Given the description of an element on the screen output the (x, y) to click on. 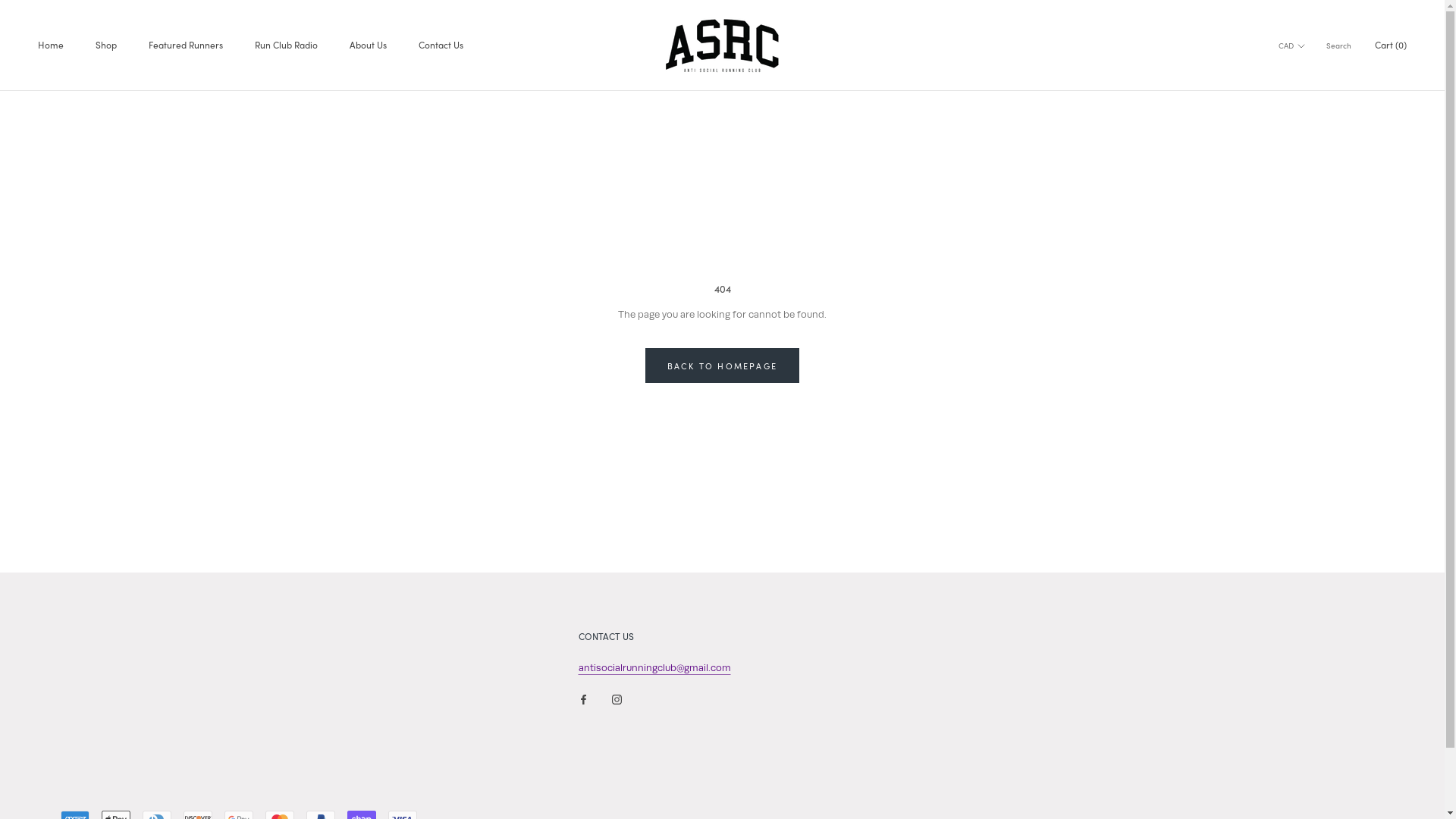
Search Element type: text (1338, 45)
About Us
About Us Element type: text (367, 44)
Contact Us
Contact Us Element type: text (440, 44)
antisocialrunningclub@gmail.com Element type: text (653, 667)
Featured Runners
Featured Runners Element type: text (185, 44)
Run Club Radio
Run Club Radio Element type: text (285, 44)
Home
Home Element type: text (50, 44)
Cart (0) Element type: text (1390, 44)
Shop
Shop Element type: text (105, 44)
BACK TO HOMEPAGE Element type: text (722, 365)
